Given the description of an element on the screen output the (x, y) to click on. 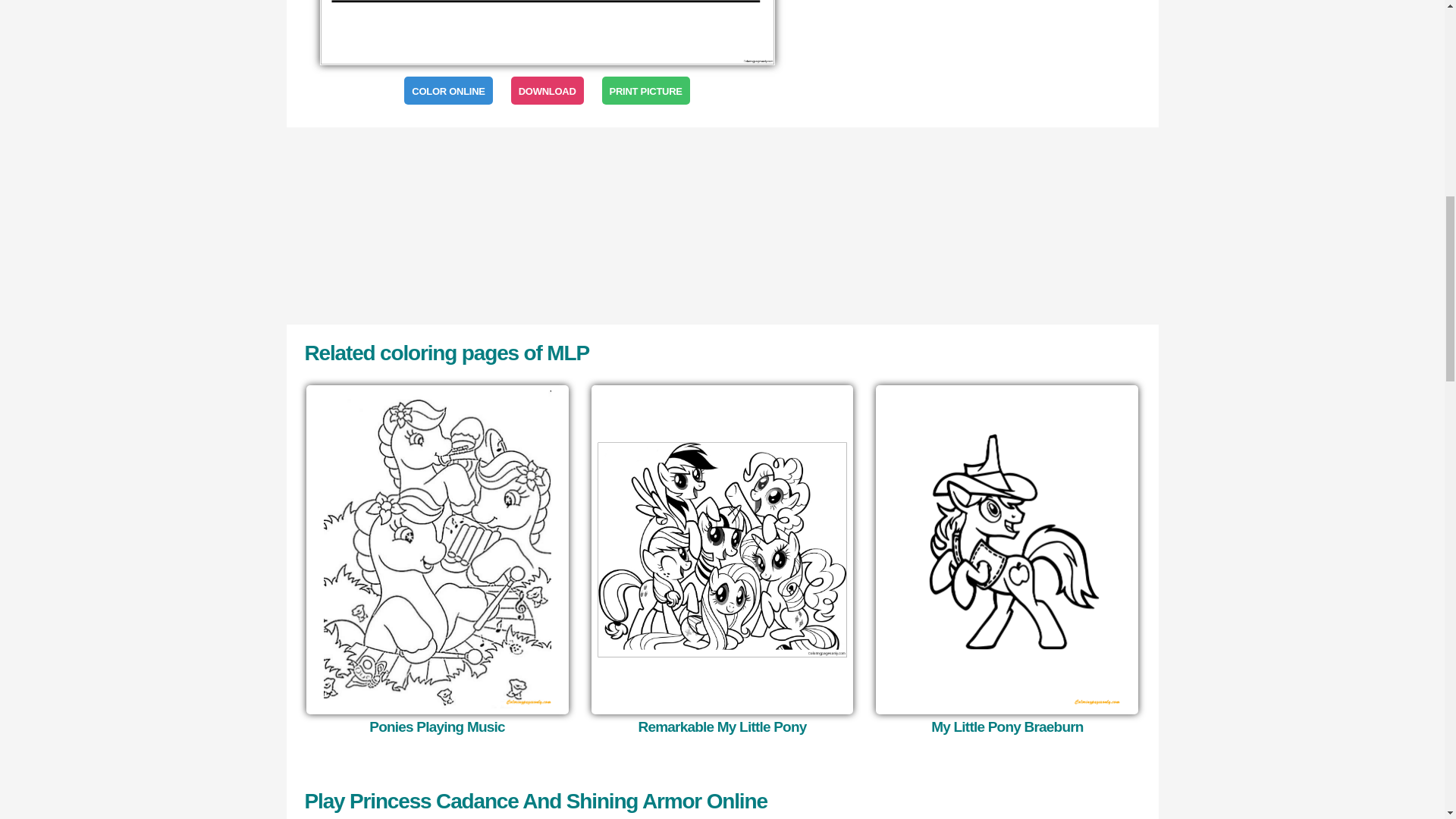
Ponies Playing Music Coloring Page (436, 726)
Ponies Playing Music Coloring Page (437, 549)
Princess Cadance And Shining Armor (547, 32)
